Given the description of an element on the screen output the (x, y) to click on. 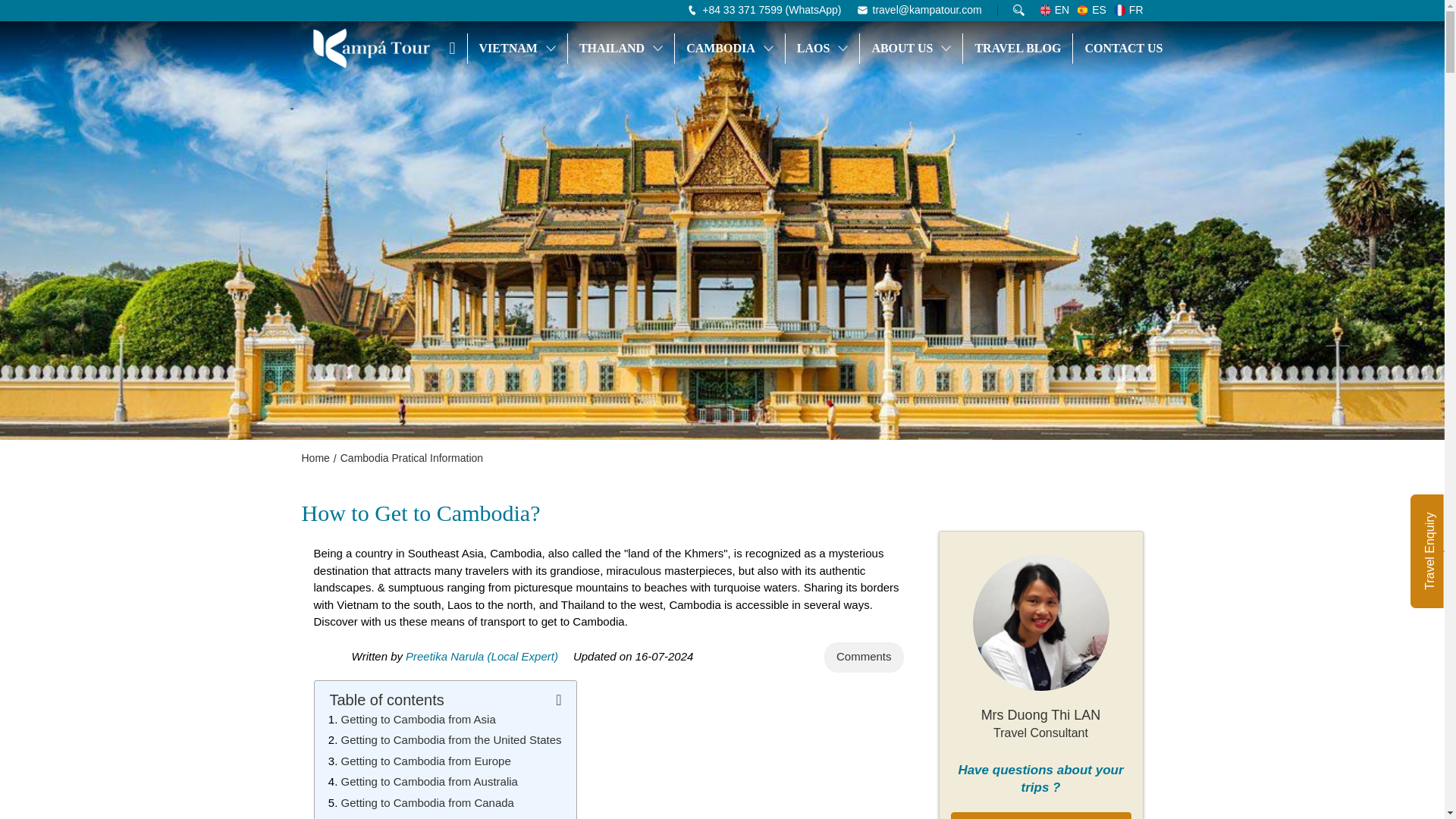
VIETNAM (517, 47)
THAILAND (620, 47)
FR (1127, 10)
